Given the description of an element on the screen output the (x, y) to click on. 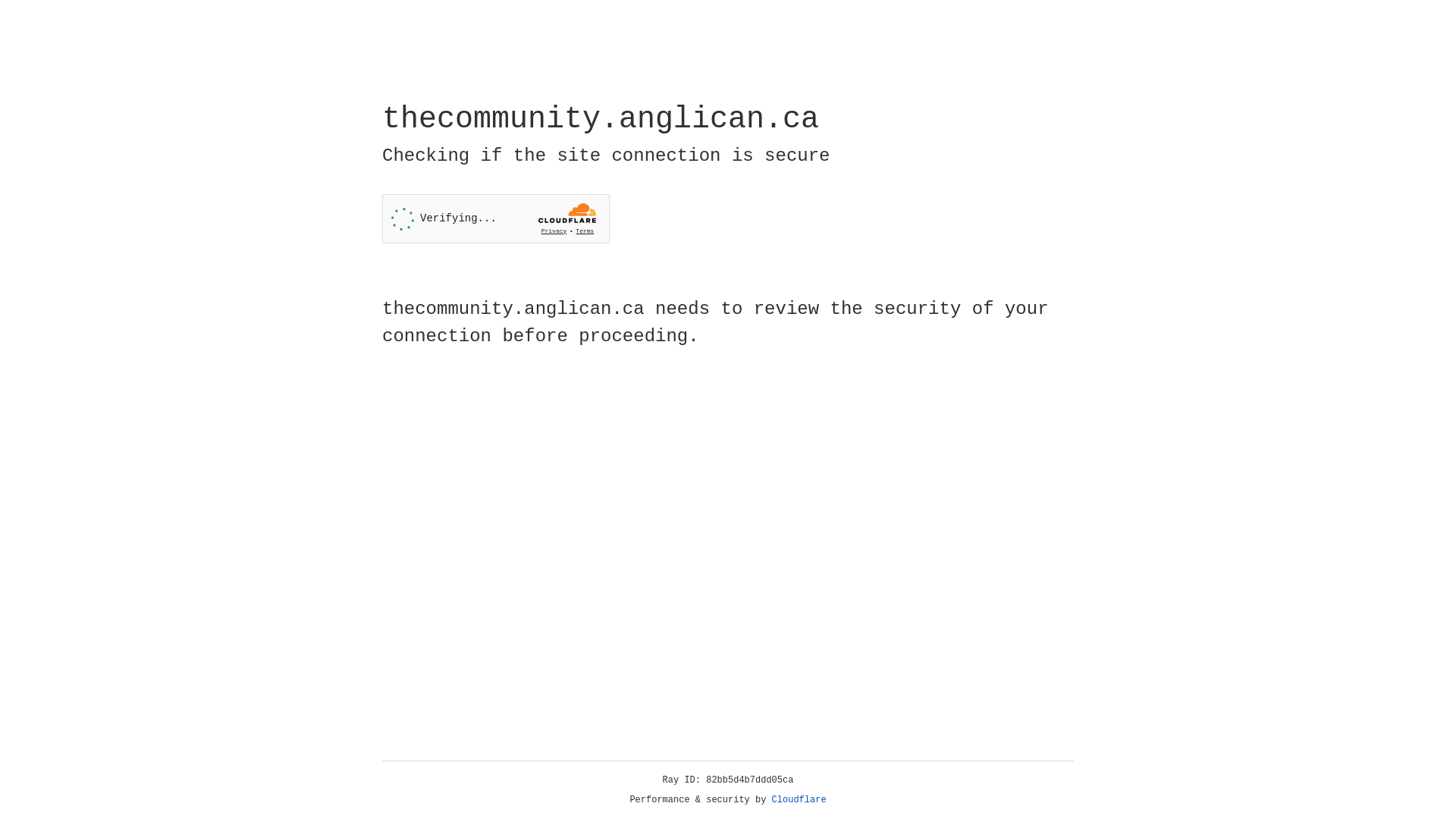
Widget containing a Cloudflare security challenge Element type: hover (495, 218)
Cloudflare Element type: text (798, 799)
